Given the description of an element on the screen output the (x, y) to click on. 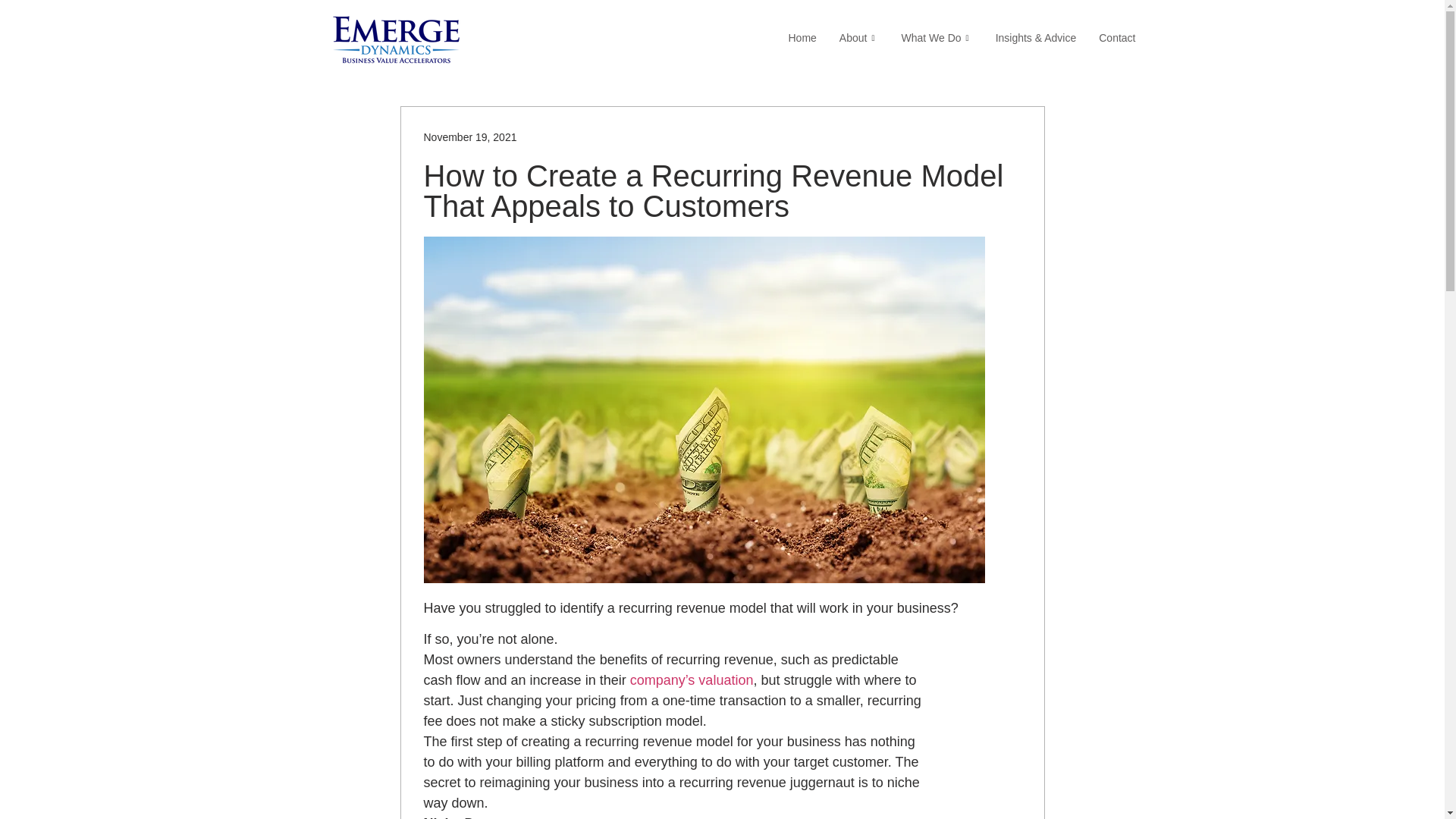
Contact (1117, 37)
Home (801, 37)
What We Do (936, 37)
About (858, 37)
